Given the description of an element on the screen output the (x, y) to click on. 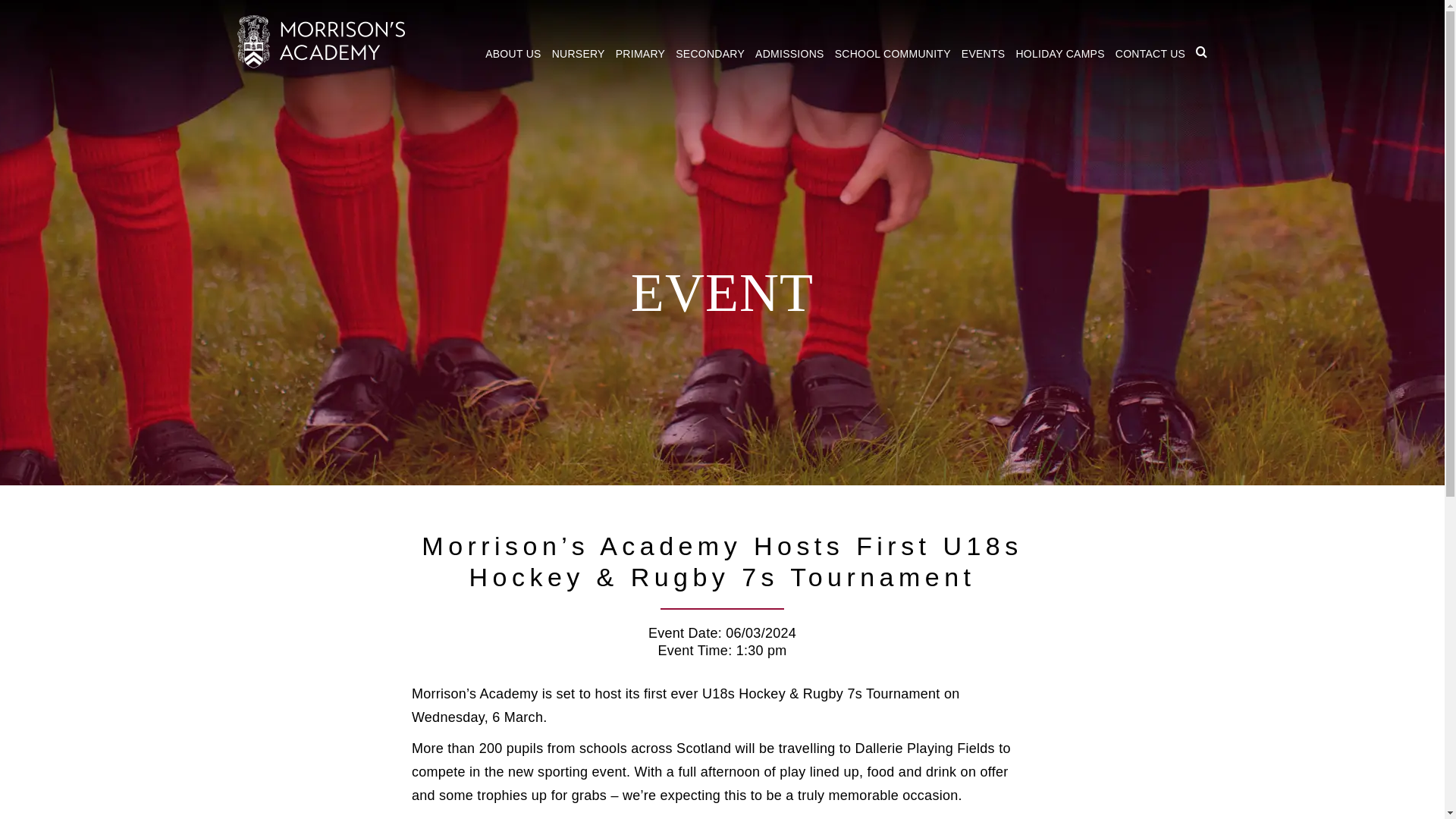
PRIMARY (640, 52)
NURSERY (578, 52)
ABOUT US (512, 52)
SECONDARY (709, 52)
